Given the description of an element on the screen output the (x, y) to click on. 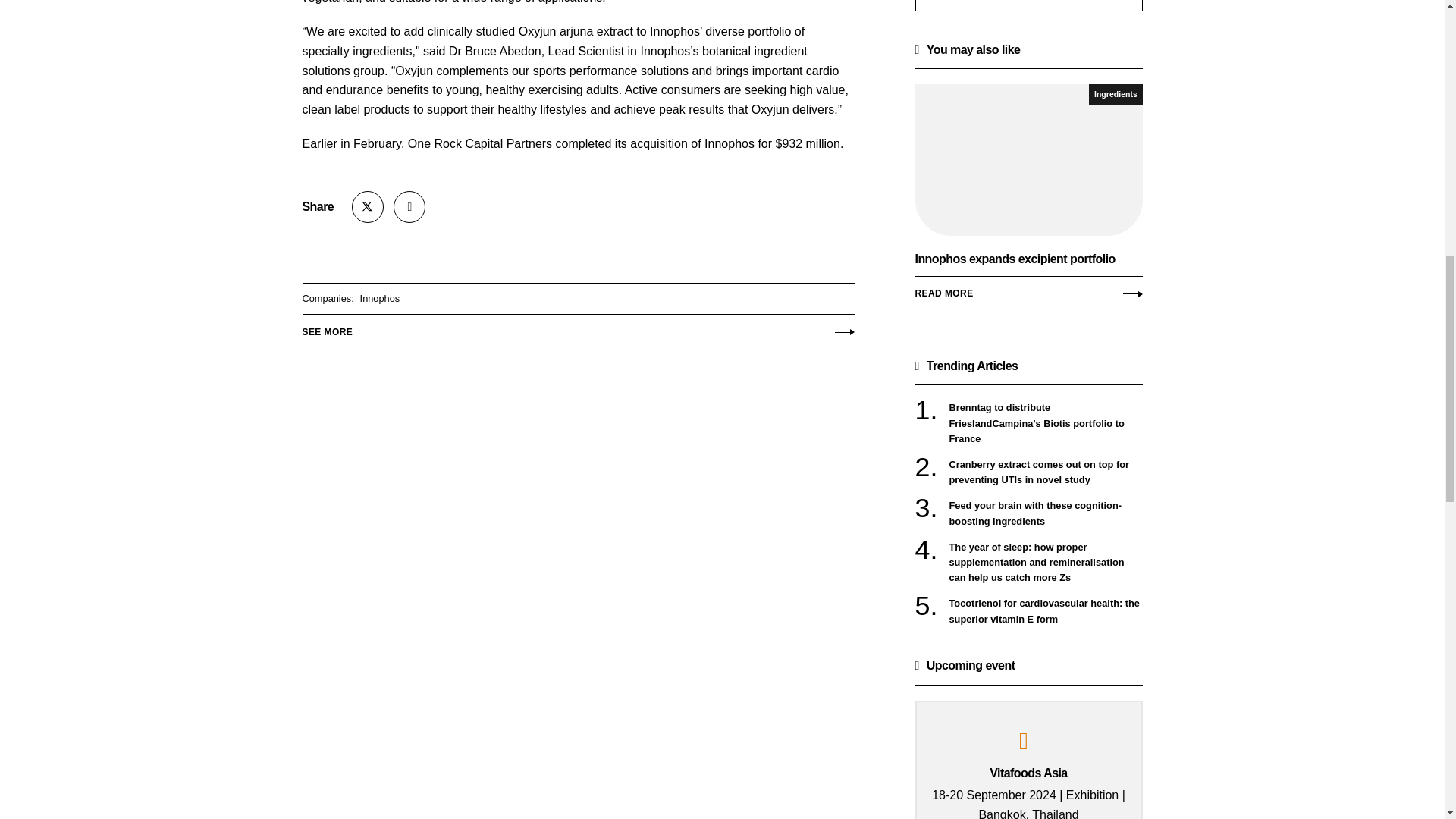
Follow Nutraceutical Business Review on LinkedIn (409, 206)
Follow Nutraceutical Business Review on X (1027, 205)
Ingredients (368, 206)
X (1115, 94)
LinkedIn (368, 206)
Feed your brain with these cognition-boosting ingredients (409, 206)
SEE MORE (1045, 513)
